Given the description of an element on the screen output the (x, y) to click on. 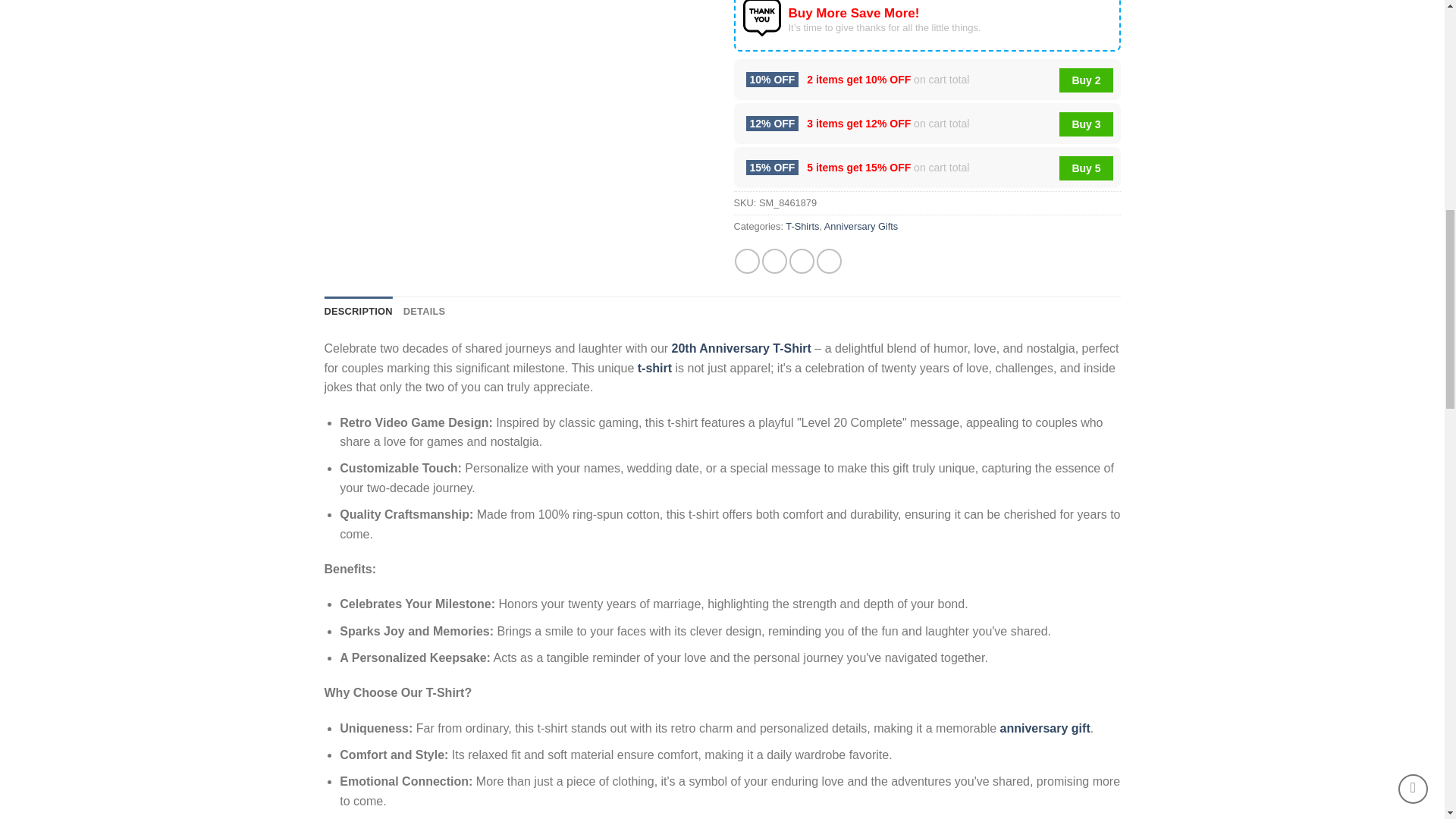
Share on Twitter (774, 260)
Share on Facebook (747, 260)
Pin on Pinterest (828, 260)
Email to a Friend (801, 260)
